Given the description of an element on the screen output the (x, y) to click on. 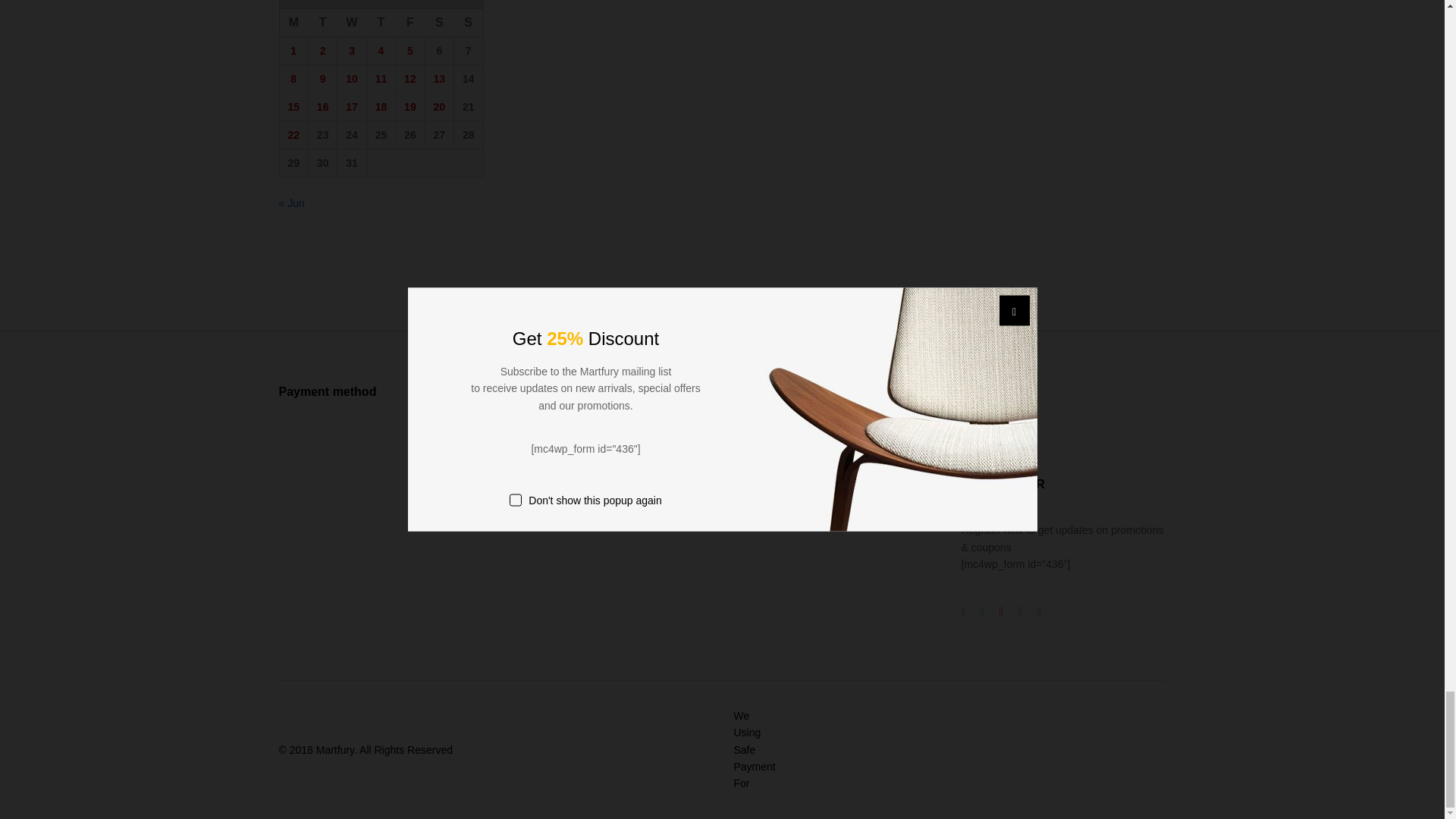
Tuesday (321, 22)
Google Plus (1000, 610)
Sunday (468, 22)
Monday (293, 22)
Facebook (962, 610)
Youtube (1019, 610)
Thursday (380, 22)
Facebook (962, 430)
Twitter (981, 430)
Twitter (981, 610)
Wednesday (351, 22)
Instagram (1000, 430)
Saturday (438, 22)
Friday (410, 22)
